Given the description of an element on the screen output the (x, y) to click on. 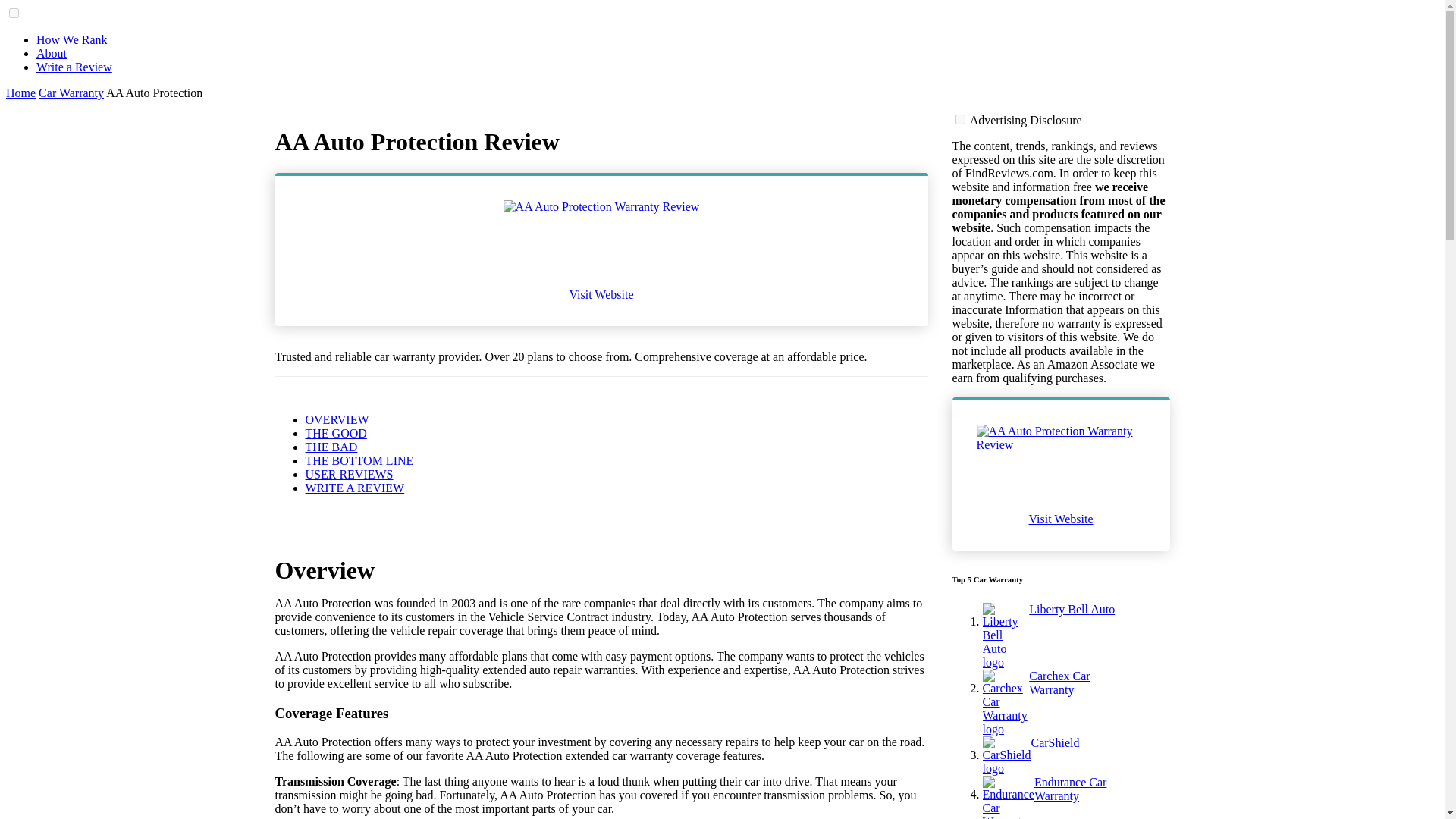
USER REVIEWS (348, 473)
THE BAD (330, 446)
Visit Website (1060, 519)
OVERVIEW (336, 419)
About (51, 52)
THE GOOD (335, 432)
on (960, 119)
Write a Review (74, 66)
Liberty Bell Auto (1076, 635)
How We Rank (71, 39)
Endurance Car Warranty (1076, 797)
THE BOTTOM LINE (358, 460)
Carchex Car Warranty (1076, 702)
Visit Website (601, 295)
Home (19, 92)
